Given the description of an element on the screen output the (x, y) to click on. 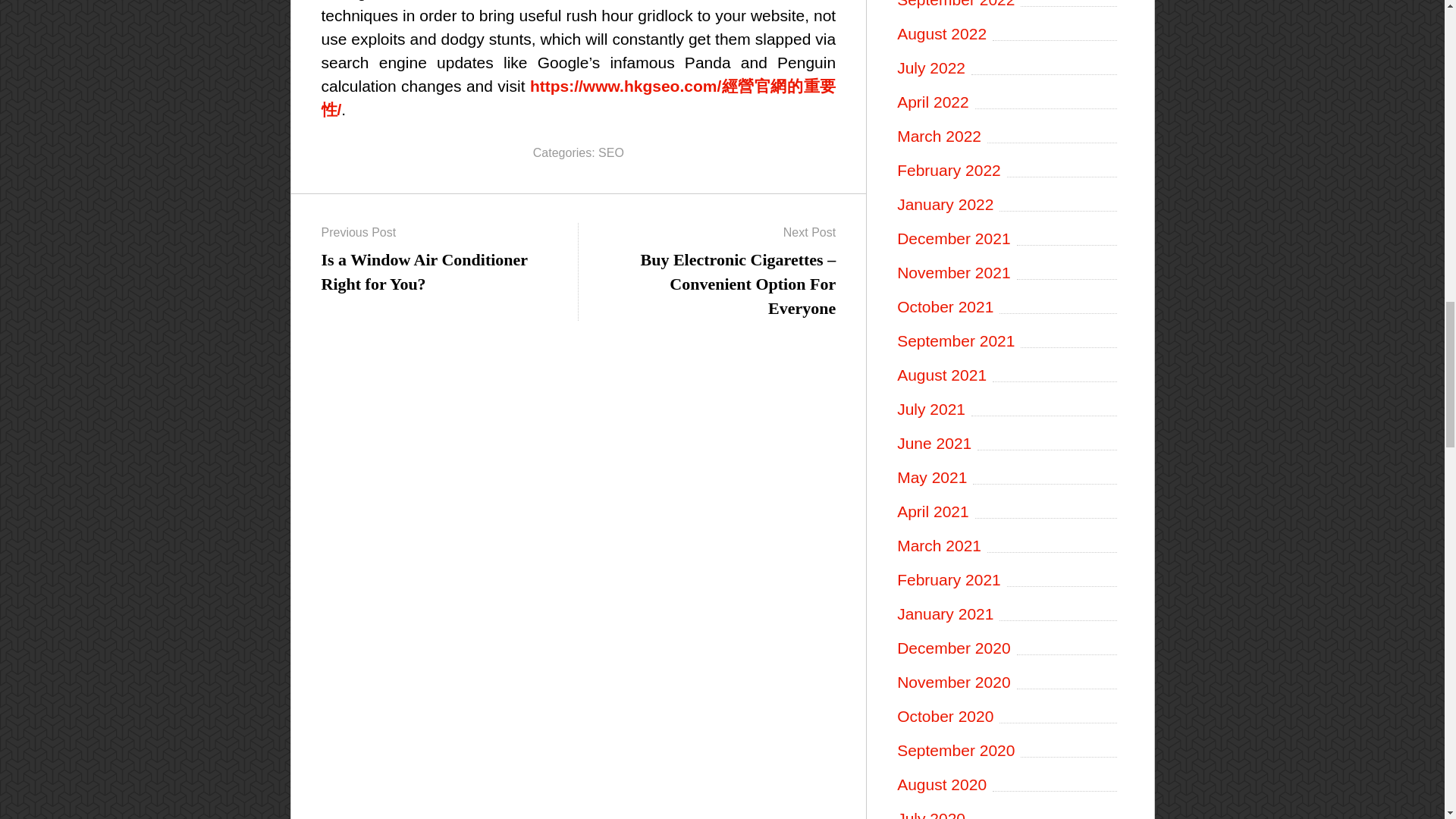
SEO (611, 152)
